Given the description of an element on the screen output the (x, y) to click on. 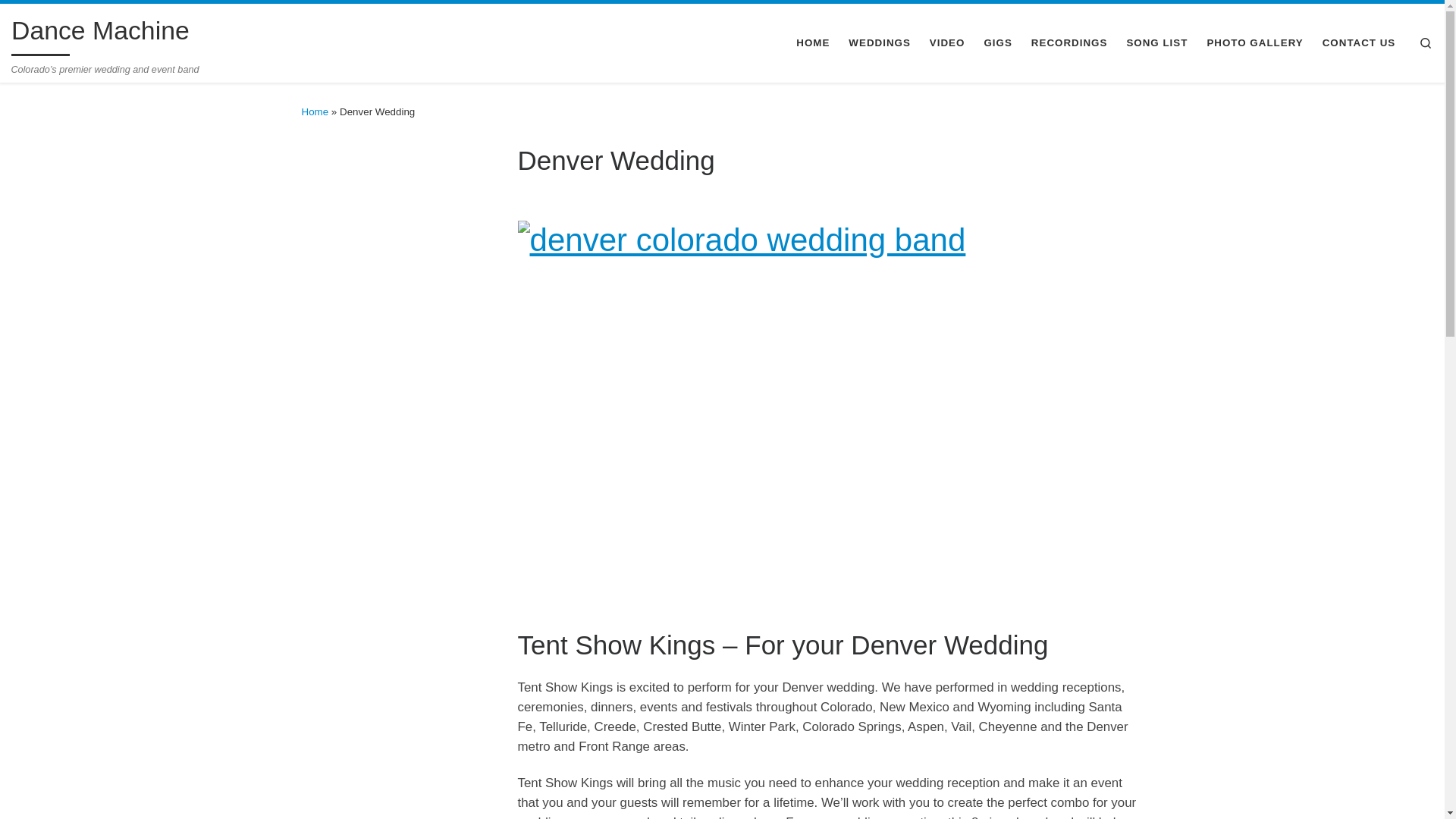
PHOTO GALLERY Element type: text (1254, 43)
CONTACT US Element type: text (1358, 43)
Home Element type: text (315, 111)
VIDEO Element type: text (947, 43)
GIGS Element type: text (997, 43)
RECORDINGS Element type: text (1069, 43)
SONG LIST Element type: text (1156, 43)
Search Element type: text (1425, 43)
Skip to content Element type: text (59, 20)
WEDDINGS Element type: text (879, 43)
Dance Machine Element type: text (100, 33)
HOME Element type: text (812, 43)
